Given the description of an element on the screen output the (x, y) to click on. 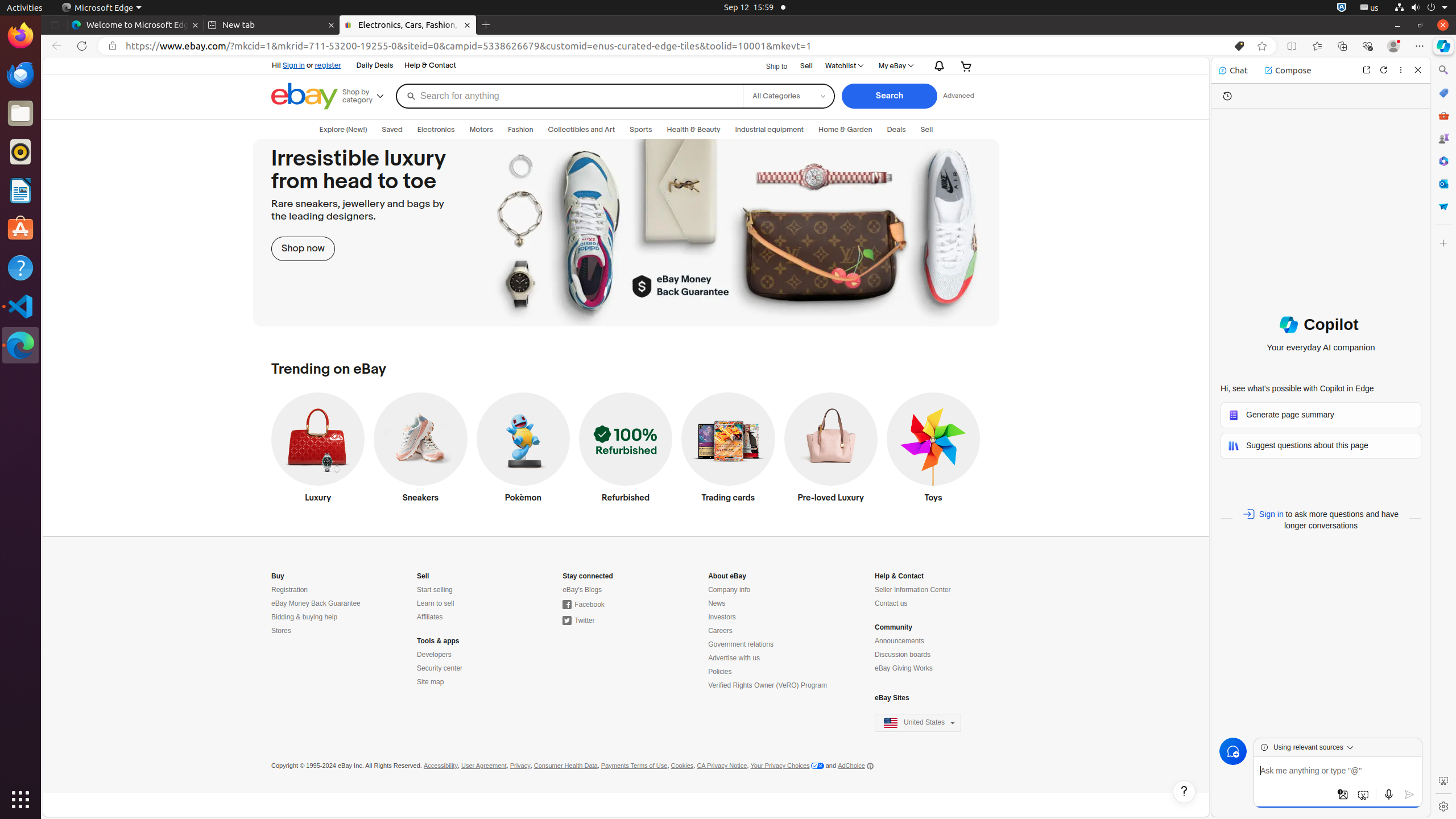
Refurbished Element type: link (625, 450)
eBay Giving Works Element type: link (903, 668)
Bidding & buying help Element type: link (304, 617)
Tab actions menu Element type: push-button (54, 24)
Microsoft 365 Element type: push-button (1443, 160)
